Given the description of an element on the screen output the (x, y) to click on. 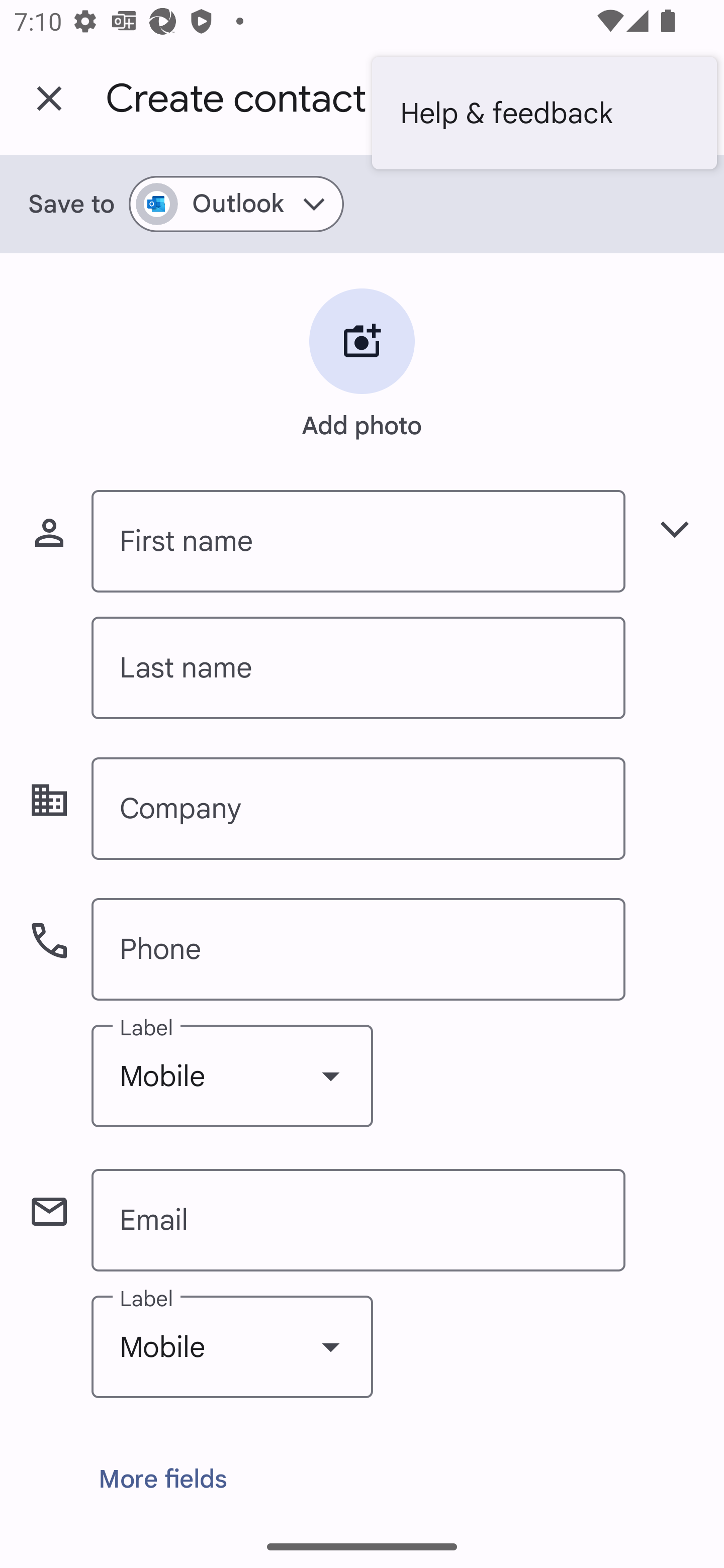
Help & feedback (544, 112)
